Given the description of an element on the screen output the (x, y) to click on. 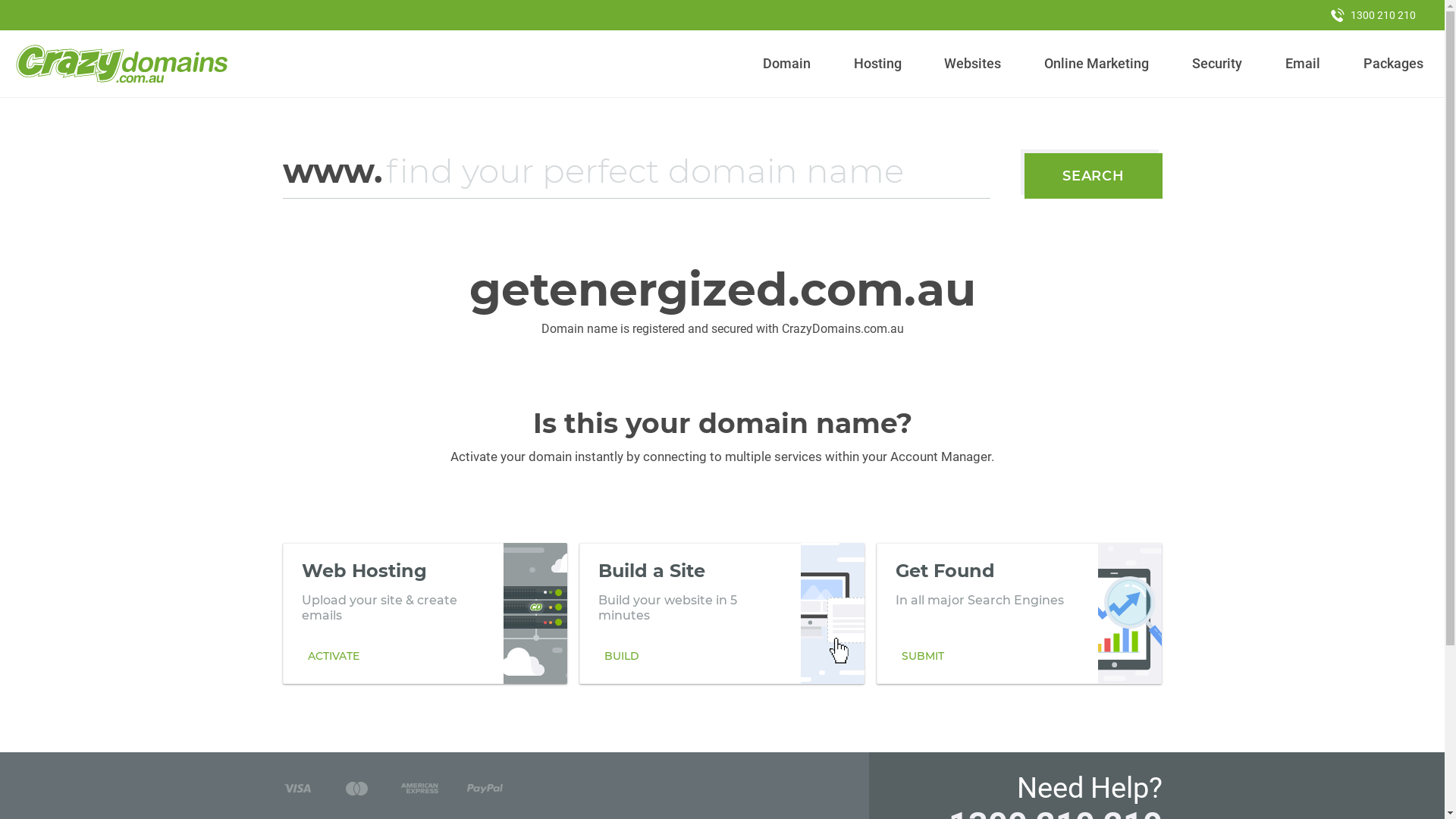
Web Hosting
Upload your site & create emails
ACTIVATE Element type: text (424, 613)
Email Element type: text (1302, 63)
SEARCH Element type: text (1092, 175)
Get Found
In all major Search Engines
SUBMIT Element type: text (1018, 613)
Online Marketing Element type: text (1096, 63)
Websites Element type: text (972, 63)
Hosting Element type: text (877, 63)
1300 210 210 Element type: text (1373, 15)
Packages Element type: text (1392, 63)
Security Element type: text (1217, 63)
Domain Element type: text (786, 63)
Build a Site
Build your website in 5 minutes
BUILD Element type: text (721, 613)
